Given the description of an element on the screen output the (x, y) to click on. 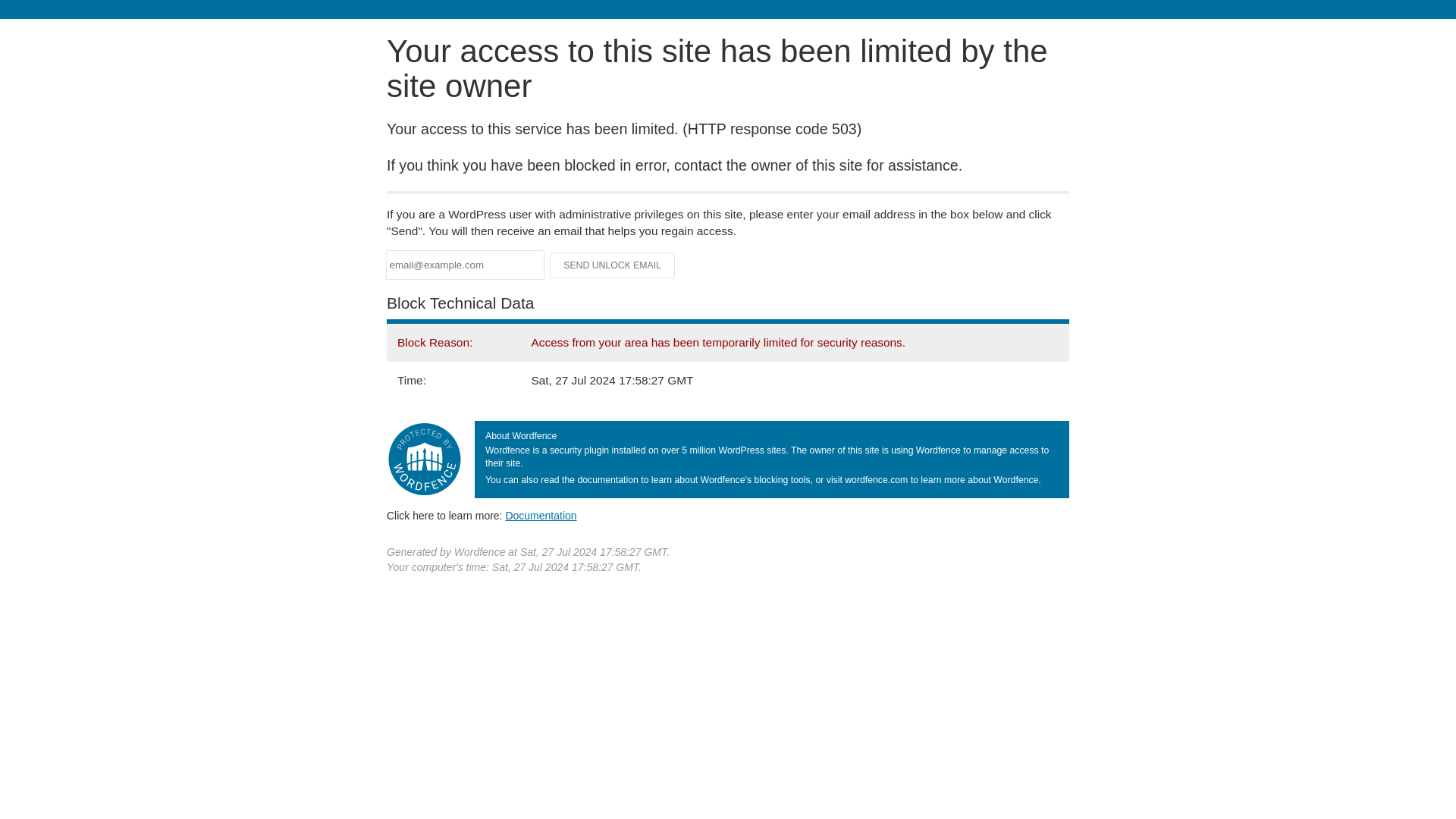
Documentation (540, 515)
Send Unlock Email (612, 265)
Send Unlock Email (612, 265)
